Given the description of an element on the screen output the (x, y) to click on. 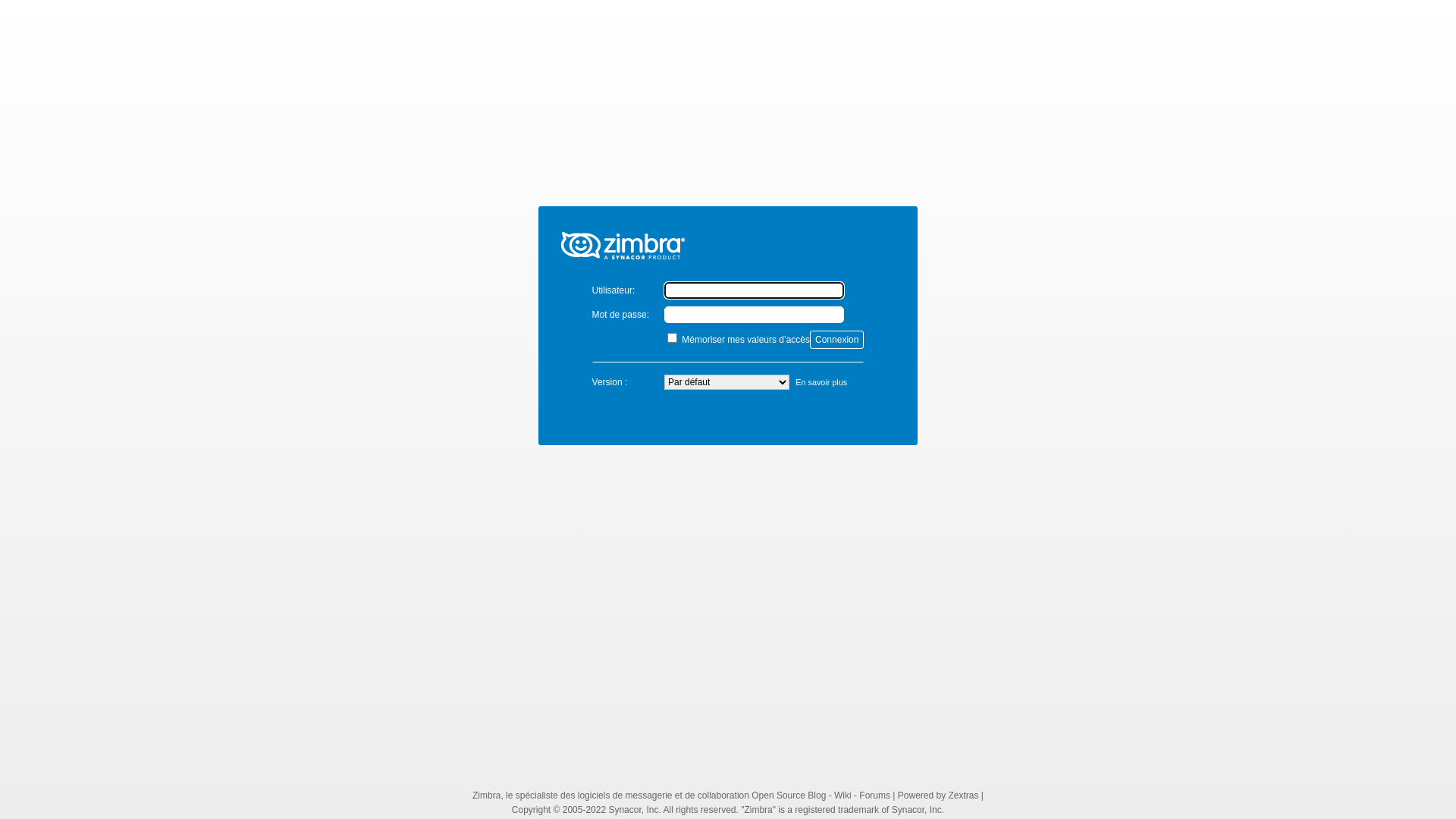
Zimbra Element type: text (727, 236)
Zextras Element type: text (962, 795)
Connexion Element type: text (836, 339)
Zimbra Element type: text (486, 795)
Blog Element type: text (816, 795)
Wiki Element type: text (842, 795)
En savoir plus Element type: text (821, 381)
Forums Element type: text (874, 795)
